Given the description of an element on the screen output the (x, y) to click on. 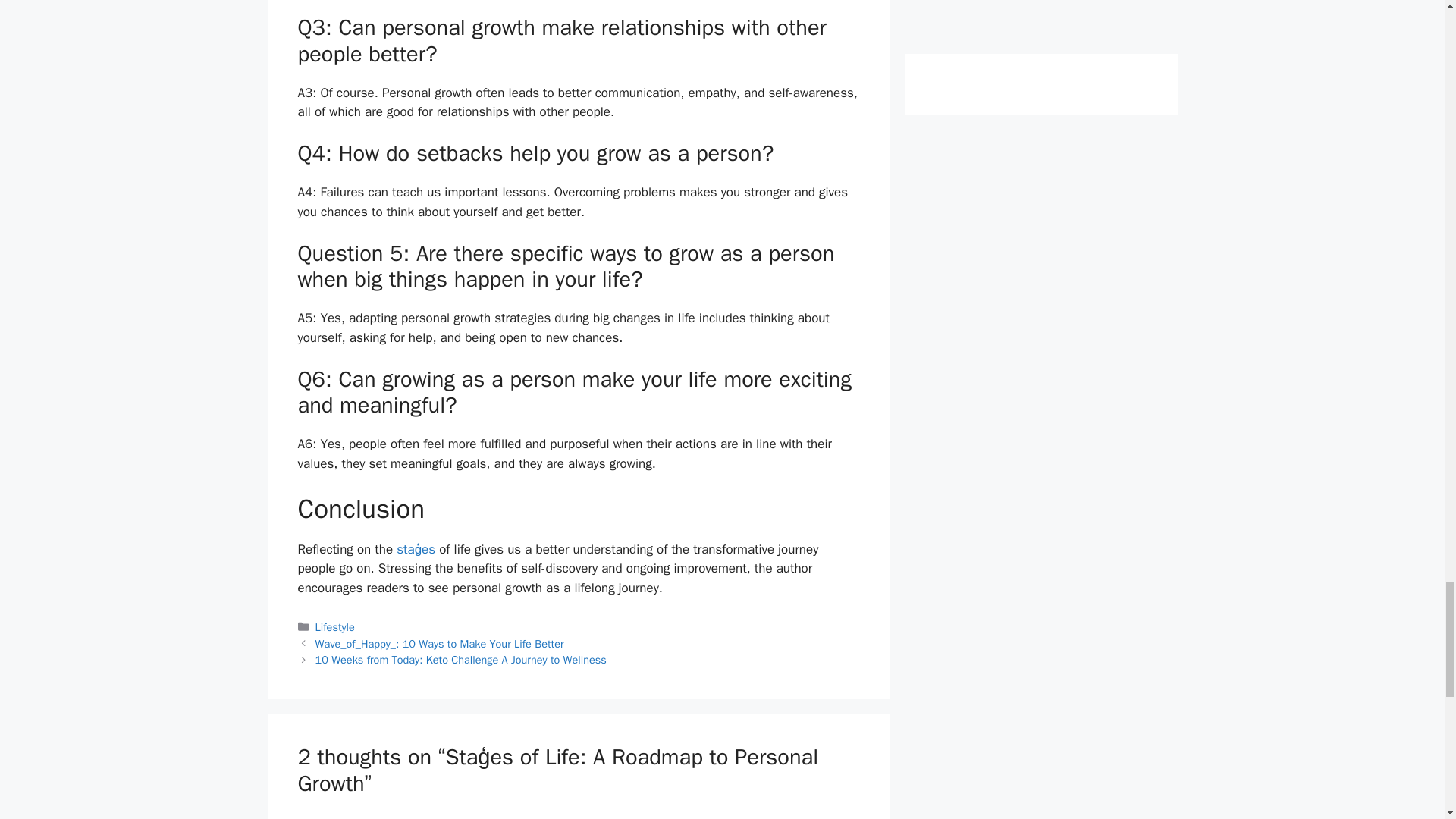
Lifestyle (335, 626)
10 Weeks from Today: Keto Challenge A Journey to Wellness (461, 659)
